Given the description of an element on the screen output the (x, y) to click on. 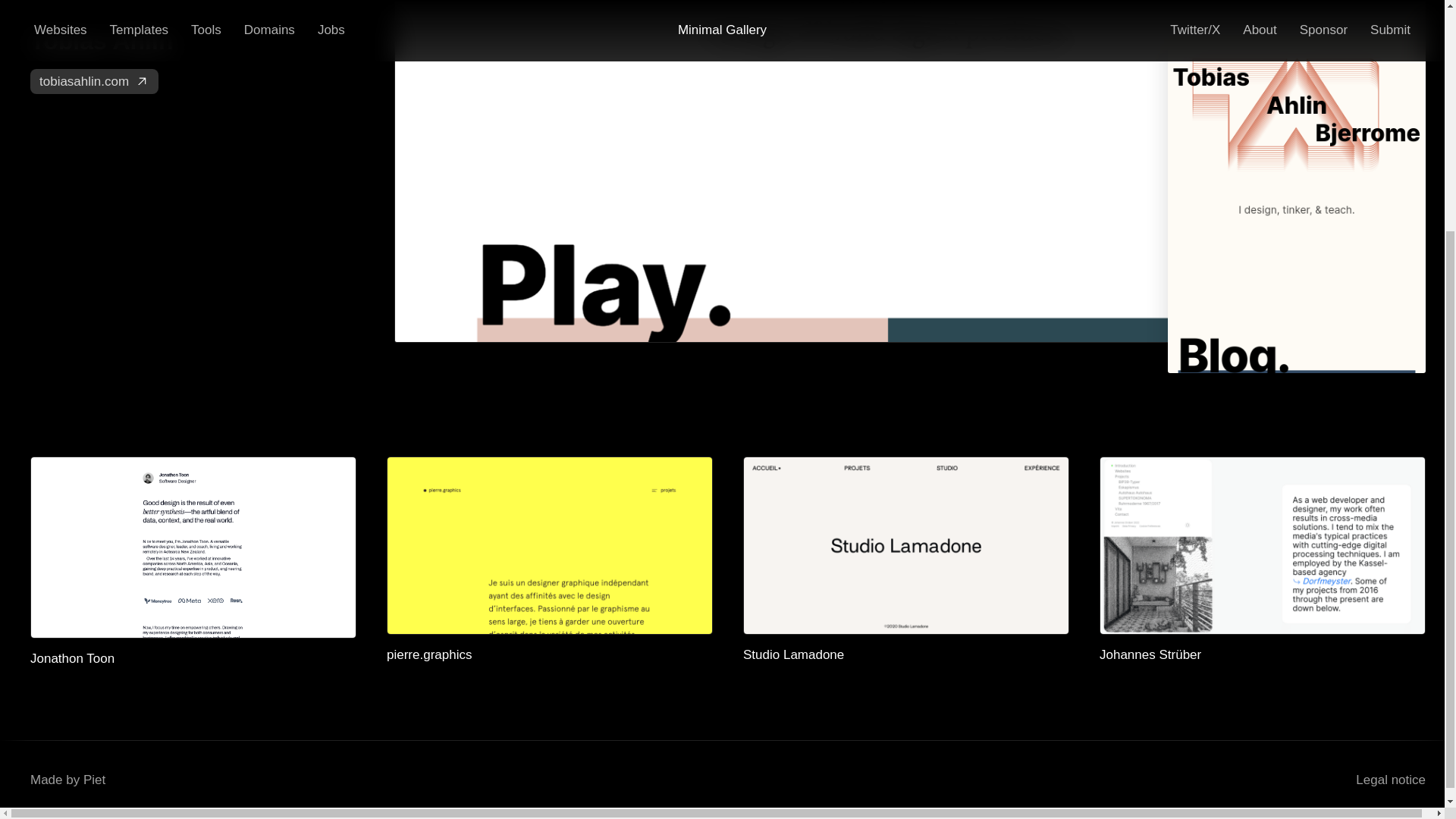
Visit website (193, 659)
Visit website (905, 655)
Visit website (1262, 655)
Visit website (197, 59)
